Given the description of an element on the screen output the (x, y) to click on. 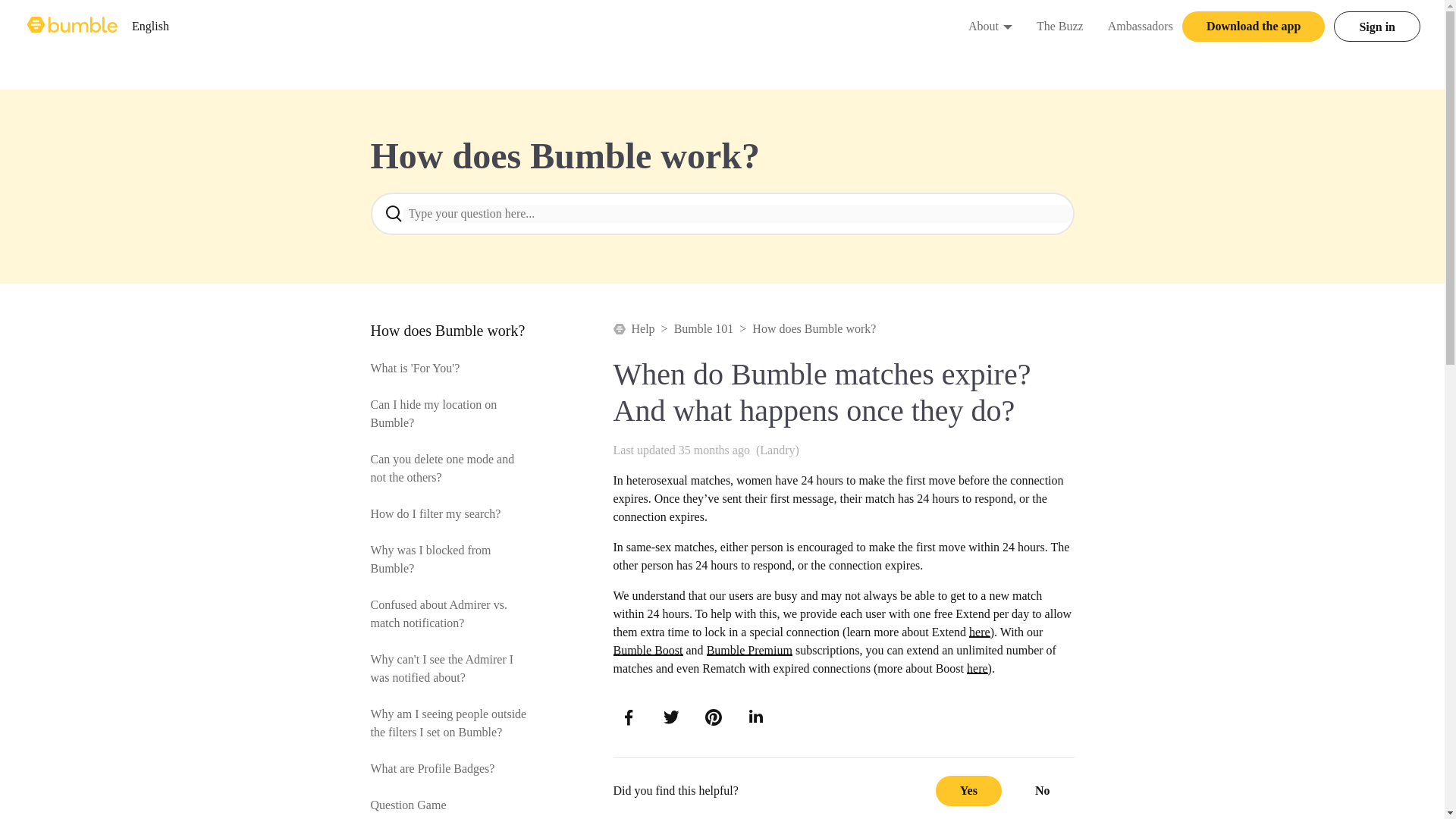
Ambassadors (1140, 26)
The Buzz (1059, 26)
Bumble homepage (150, 26)
Expand About (72, 25)
About (1007, 26)
Download the app (983, 26)
